Given the description of an element on the screen output the (x, y) to click on. 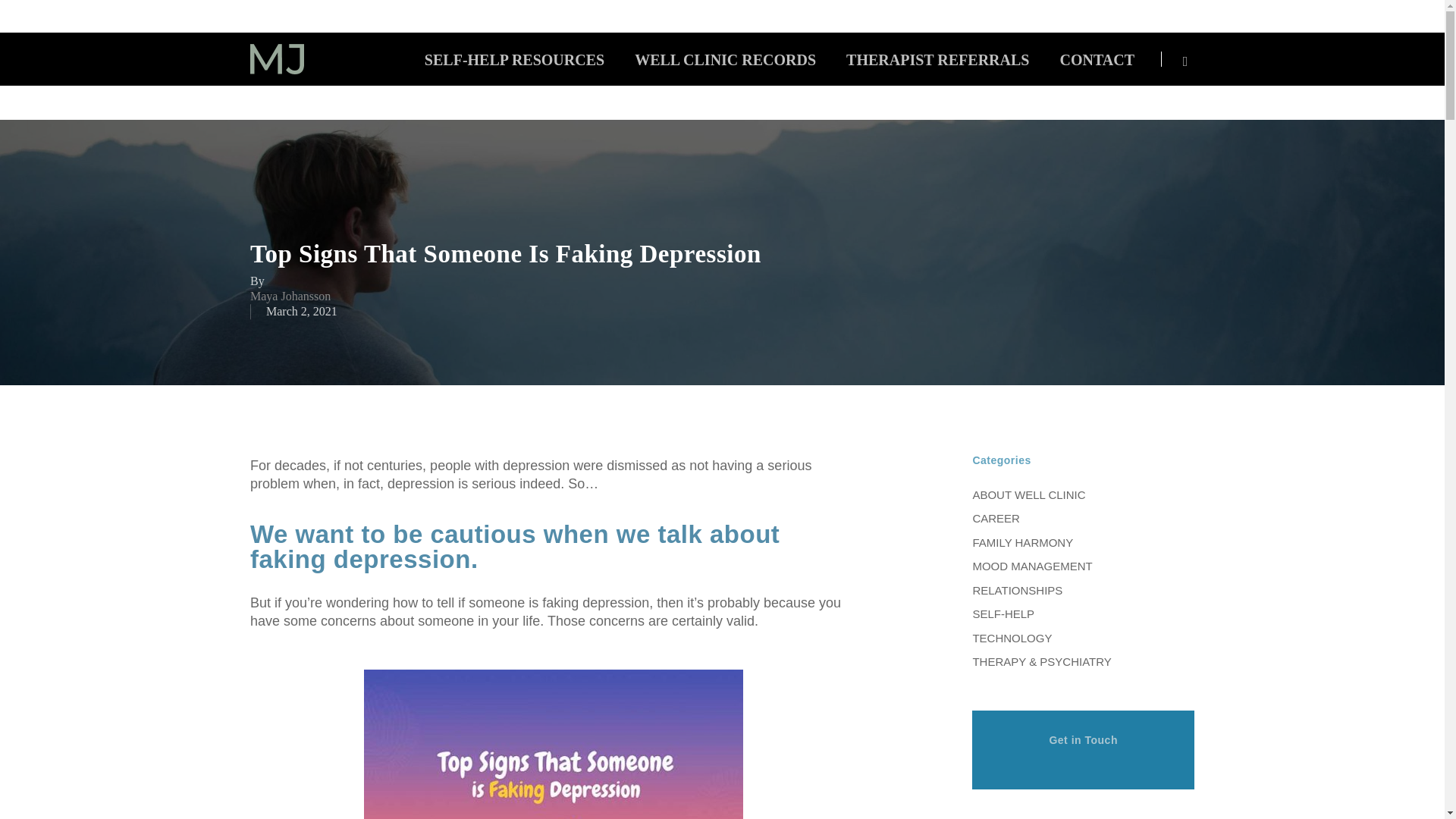
SELF-HELP (1082, 612)
FAMILY HARMONY (1082, 541)
ABOUT WELL CLINIC (1082, 496)
RELATIONSHIPS (1082, 589)
TECHNOLOGY (1082, 636)
Posts by Maya Johansson (290, 295)
THERAPIST REFERRALS (937, 58)
search (1184, 58)
CONTACT (1096, 58)
WELL CLINIC RECORDS (725, 58)
MOOD MANAGEMENT (1082, 564)
CAREER (1082, 517)
SELF-HELP RESOURCES (514, 58)
Maya Johansson (290, 295)
